Given the description of an element on the screen output the (x, y) to click on. 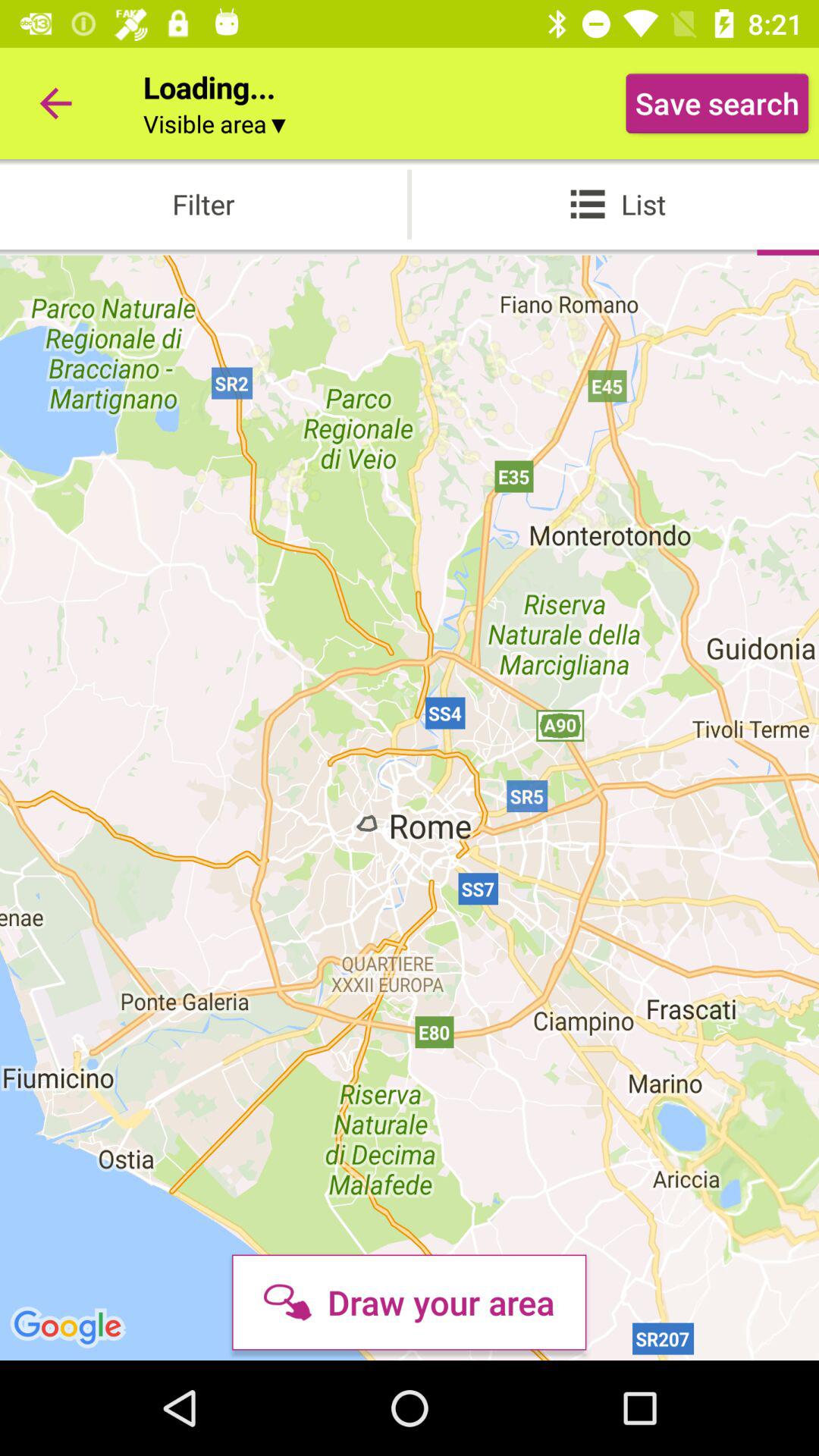
tap the icon next to loading... icon (717, 103)
